Given the description of an element on the screen output the (x, y) to click on. 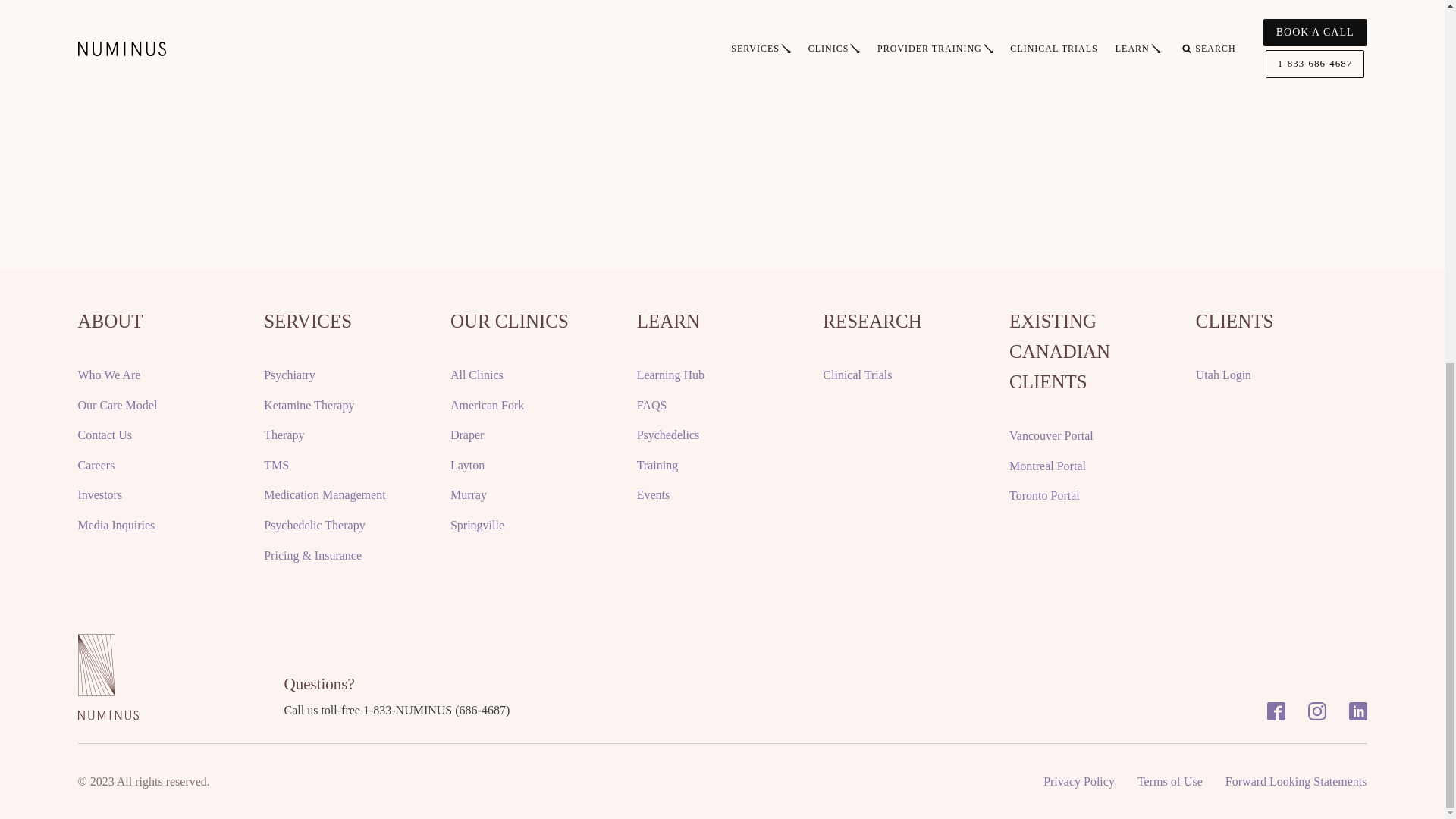
Careers (96, 465)
Contact Us (104, 435)
Investors (99, 495)
Who We Are (108, 374)
Our Care Model (117, 405)
Media Inquiries (115, 525)
